Given the description of an element on the screen output the (x, y) to click on. 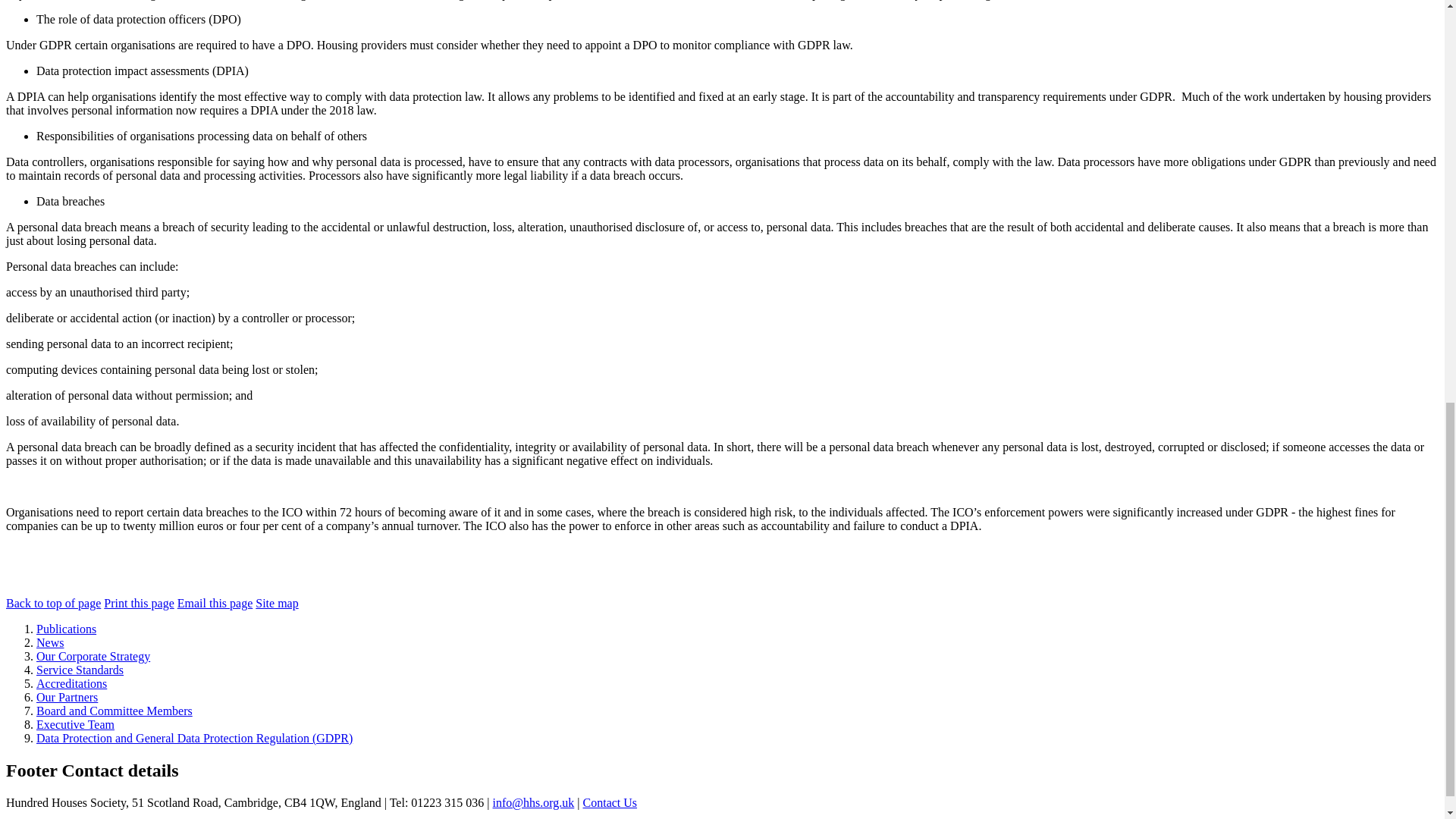
Back to top of page (52, 603)
Site map (277, 603)
Executive Team (75, 724)
Email this page (215, 603)
Publications (66, 628)
Print this page (138, 603)
Our Corporate Strategy (92, 656)
Contact Us (610, 802)
News (50, 642)
Service Standards (79, 669)
